Given the description of an element on the screen output the (x, y) to click on. 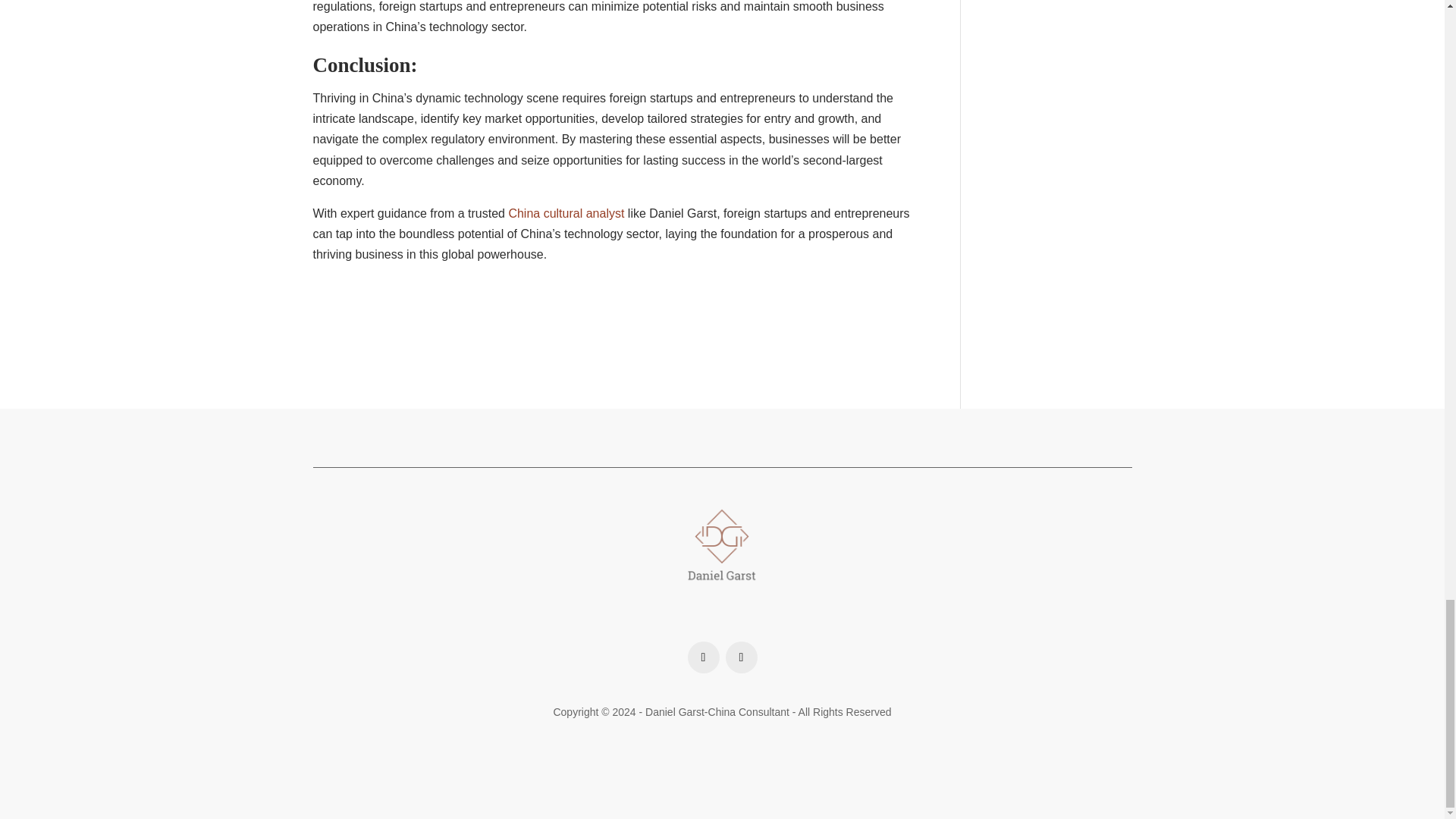
dg-logo-footer500px-2 (722, 544)
Follow on X (741, 657)
Follow on Facebook (703, 657)
